Given the description of an element on the screen output the (x, y) to click on. 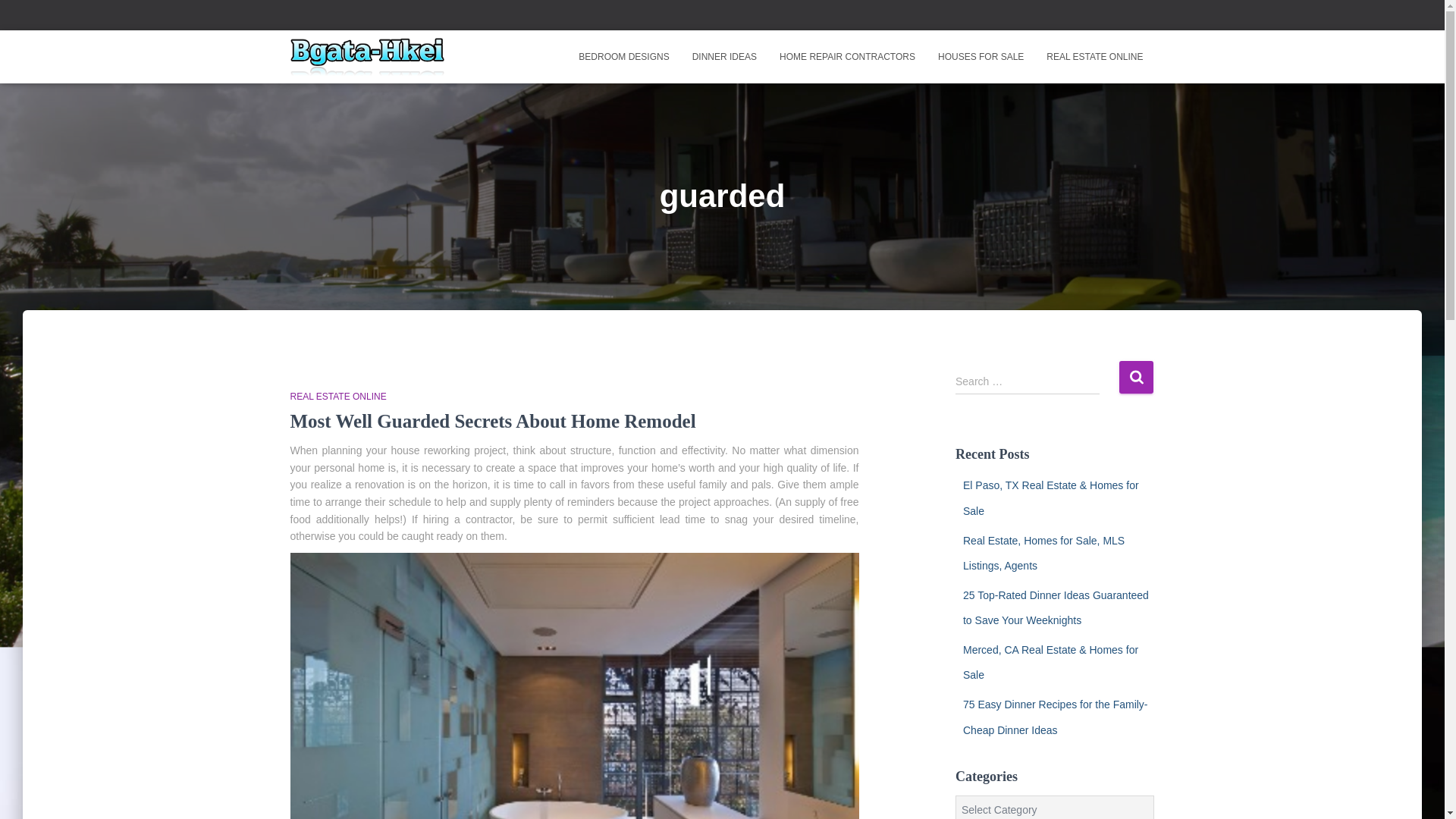
75 Easy Dinner Recipes for the Family- Cheap Dinner Ideas (1055, 717)
DINNER IDEAS (724, 56)
HOUSES FOR SALE (980, 56)
BEDROOM DESIGNS (623, 56)
Bgata Hkei (367, 56)
REAL ESTATE ONLINE (337, 396)
Houses For Sale (980, 56)
Home Repair Contractors (847, 56)
Dinner Ideas (724, 56)
Most Well Guarded Secrets About Home Remodel (492, 421)
Real Estate Online (1094, 56)
Search (1136, 377)
HOME REPAIR CONTRACTORS (847, 56)
REAL ESTATE ONLINE (1094, 56)
Most Well Guarded Secrets About Home Remodel (492, 421)
